Given the description of an element on the screen output the (x, y) to click on. 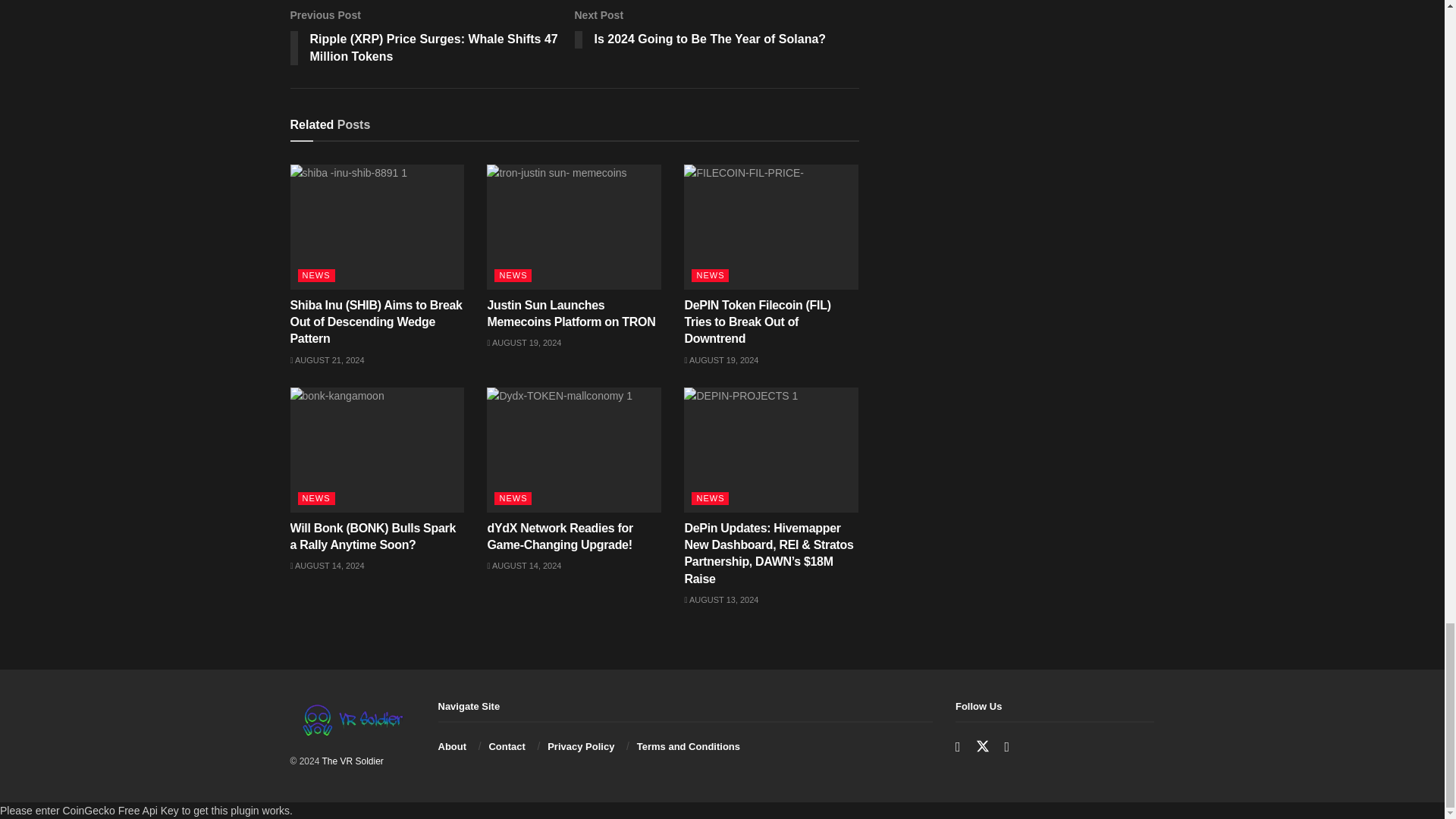
tron-justin sun- memecoins  The VR Soldier (573, 226)
bonk-kangamoon 1  The VR Soldier (376, 449)
shiba -inu-shib-8891 1-mallconomy  The VR Soldier (376, 226)
DEPIN-PROJECTS 1  The VR Soldier (771, 449)
FILECOIN-FIL-PRICE- 1  The VR Soldier (771, 226)
Dydx-TOKEN-mallconomy 1  The VR Soldier (573, 449)
